Given the description of an element on the screen output the (x, y) to click on. 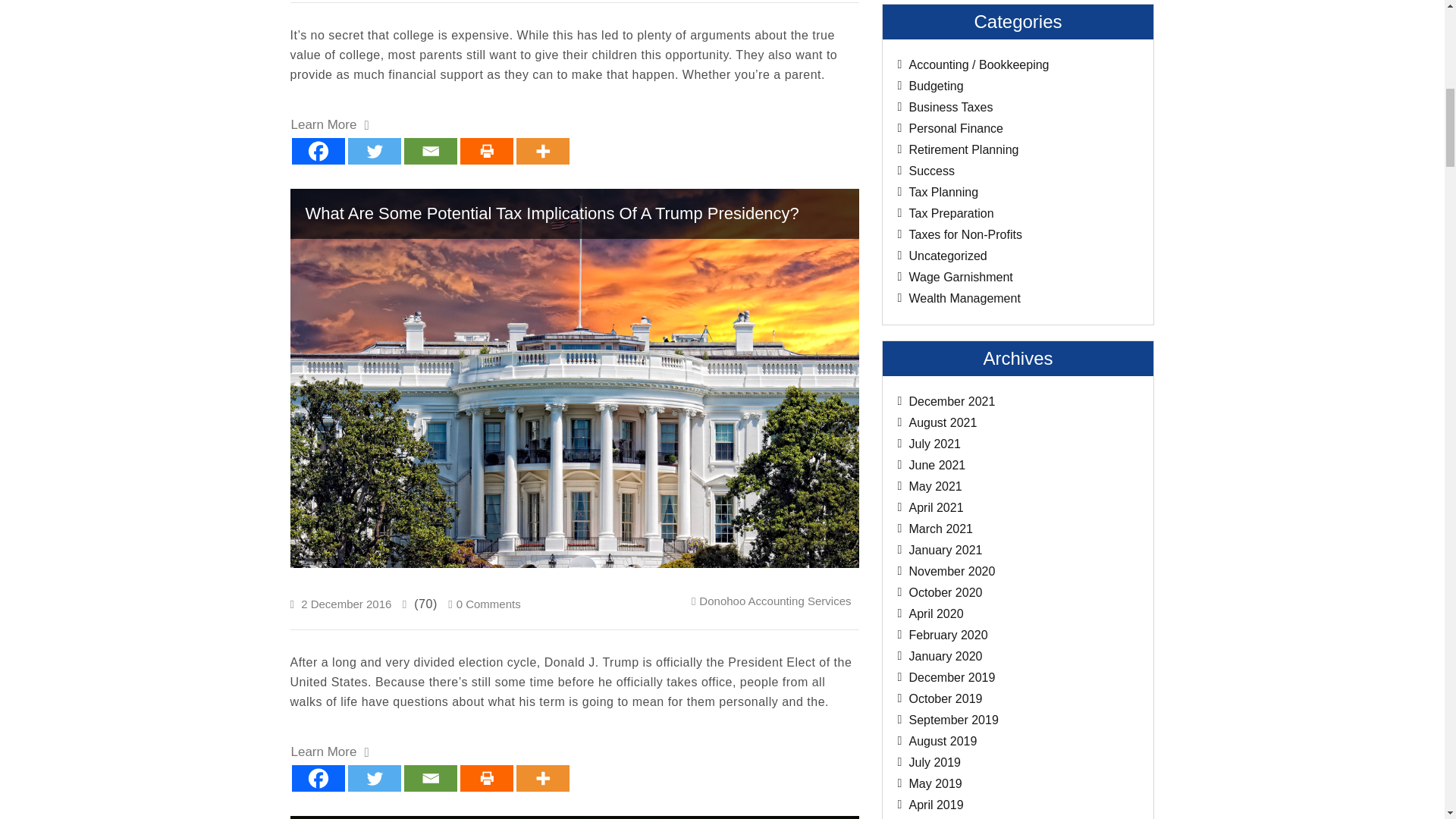
Facebook (317, 151)
Donohoo Accounting Services (774, 600)
Twitter (373, 151)
Learn More (330, 125)
Learn More (330, 752)
Email (430, 151)
More (542, 151)
Print (486, 151)
